Given the description of an element on the screen output the (x, y) to click on. 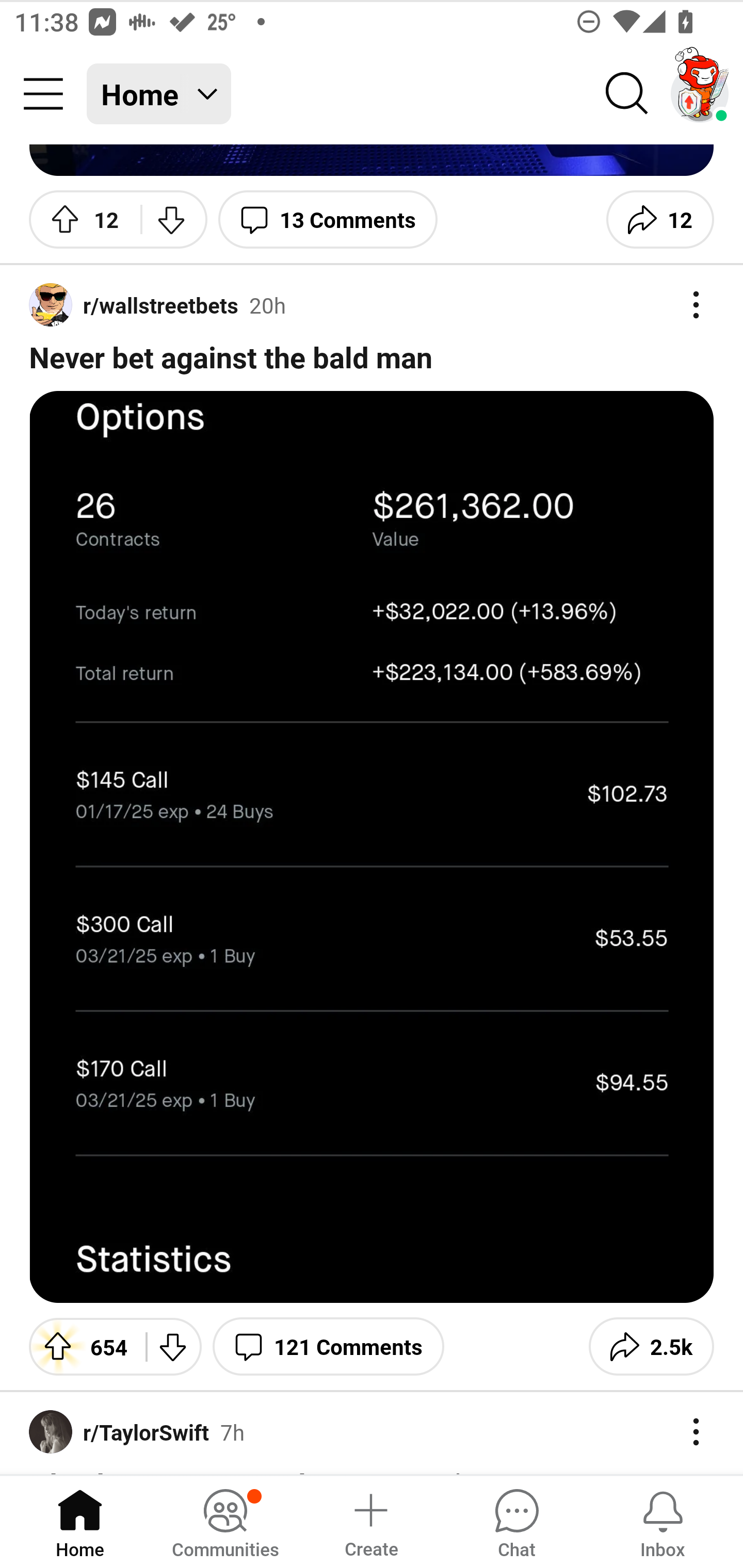
Community menu (43, 93)
Home Home feed (158, 93)
Search (626, 93)
TestAppium002 account (699, 93)
Home (80, 1520)
Communities, has notifications Communities (225, 1520)
Create a post Create (370, 1520)
Chat (516, 1520)
Inbox (662, 1520)
